Given the description of an element on the screen output the (x, y) to click on. 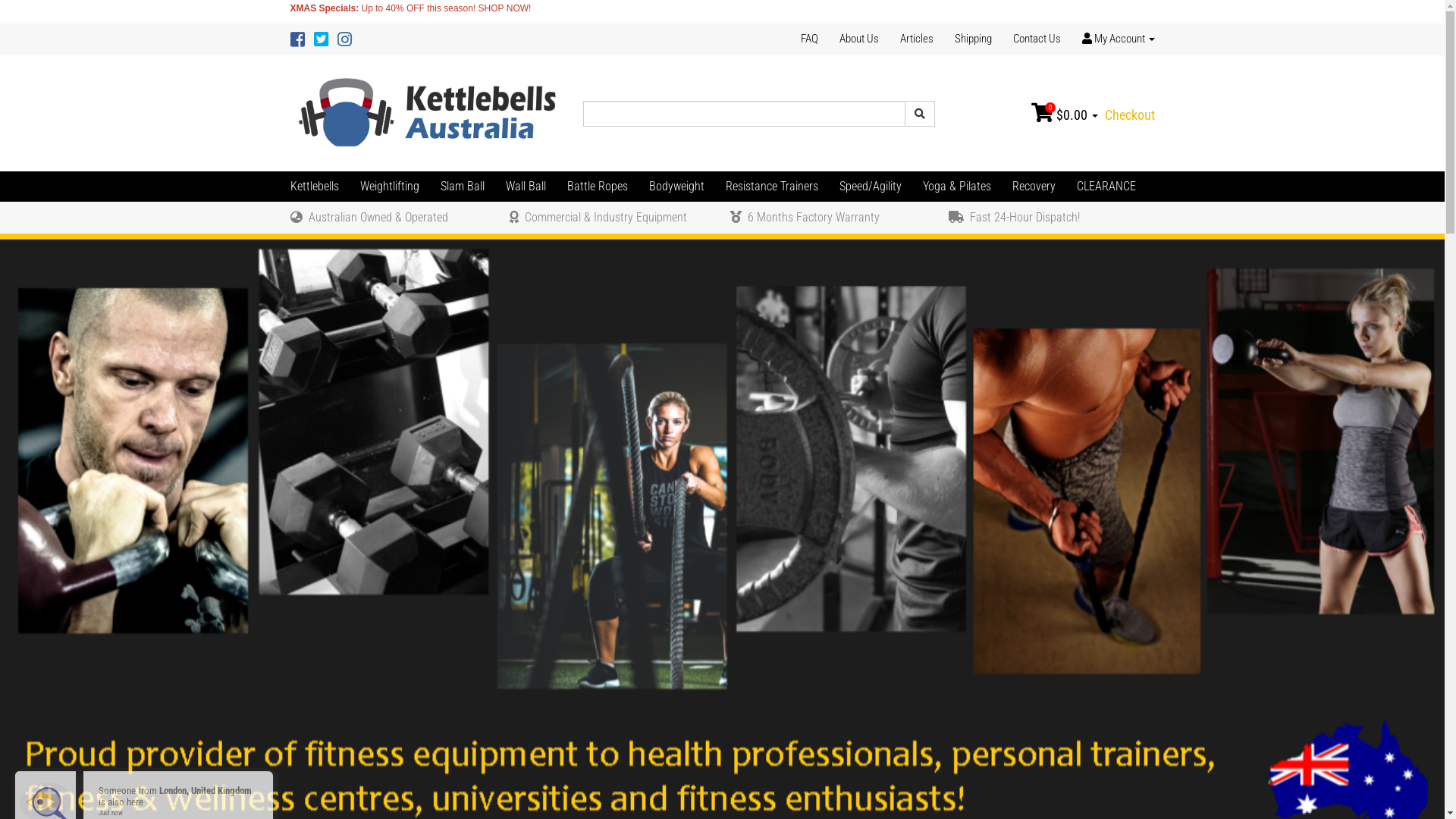
Search Element type: text (919, 113)
About Us Element type: text (858, 38)
Resistance Trainers Element type: text (771, 186)
Kettlebells Australia Element type: hover (428, 112)
Recovery Element type: text (1033, 186)
Yoga & Pilates Element type: text (956, 186)
Checkout Element type: text (1127, 114)
Speed/Agility Element type: text (869, 186)
Wall Ball Element type: text (524, 186)
My Account Element type: text (1112, 38)
Battle Ropes Element type: text (597, 186)
Kettlebells Element type: text (318, 186)
Shipping Element type: text (972, 38)
0
$0.00 Element type: text (1066, 114)
Articles Element type: text (915, 38)
Weightlifting Element type: text (388, 186)
Contact Us Element type: text (1036, 38)
FAQ Element type: text (814, 38)
Bodyweight Element type: text (676, 186)
Slam Ball Element type: text (461, 186)
CLEARANCE Element type: text (1106, 186)
